Given the description of an element on the screen output the (x, y) to click on. 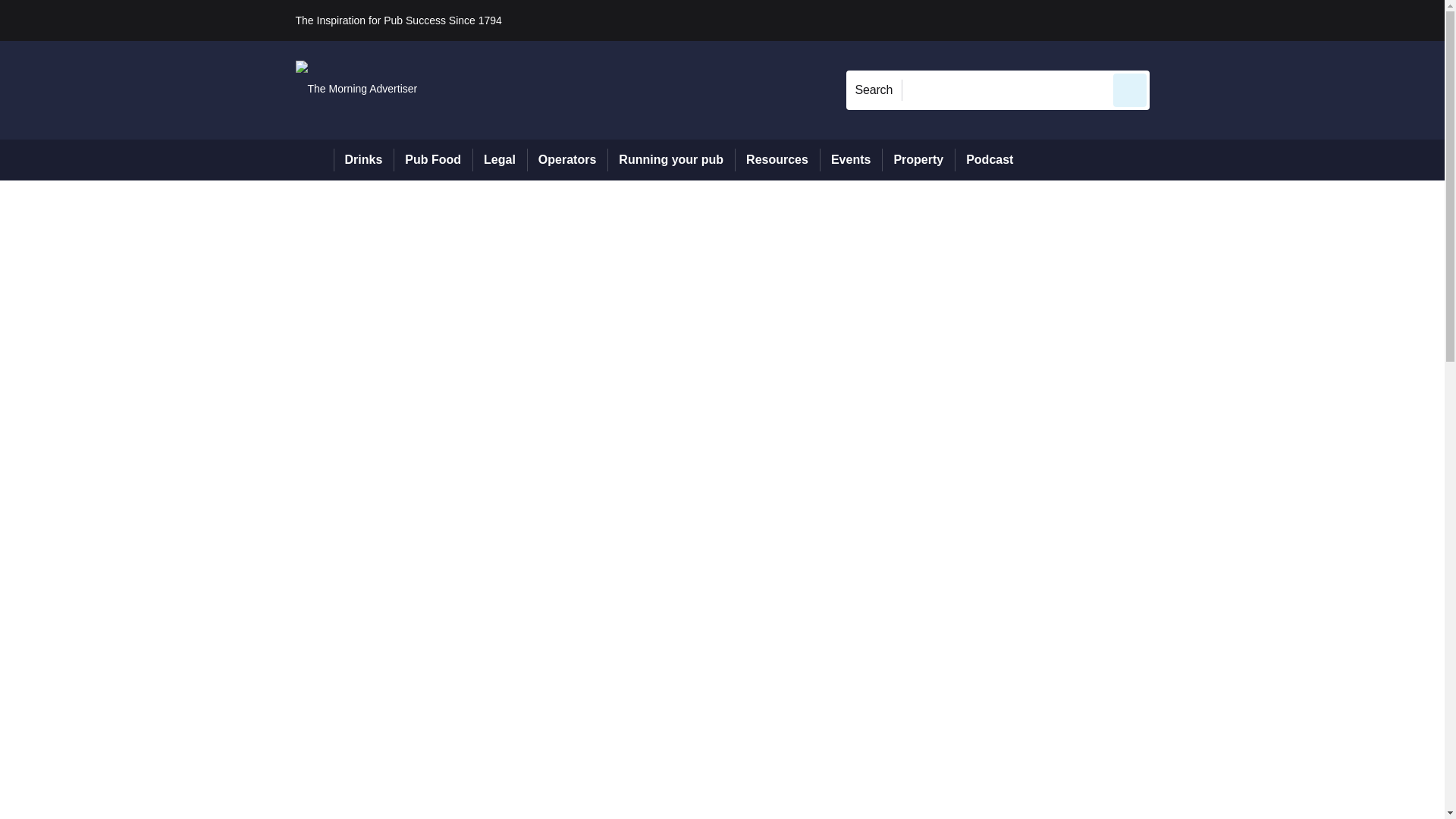
The Morning Advertiser (356, 89)
Drinks (363, 159)
Sign out (1174, 20)
Home (313, 159)
Legal (499, 159)
My account (1256, 20)
REGISTER (1250, 20)
Sign in (1171, 20)
Send (1129, 89)
Pub Food (432, 159)
Home (314, 159)
Send (1129, 90)
